Given the description of an element on the screen output the (x, y) to click on. 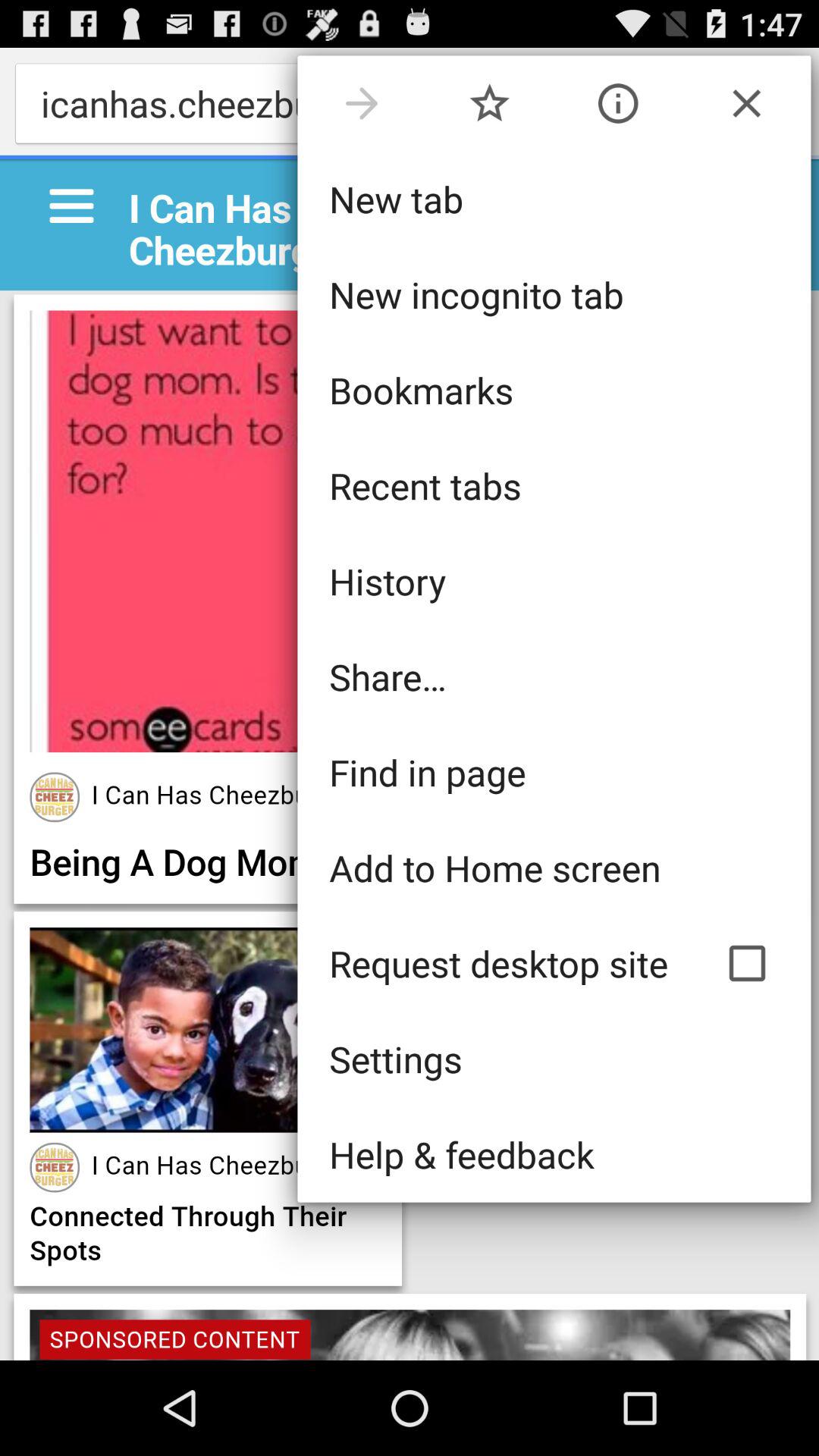
click the item above the new tab (361, 103)
